Given the description of an element on the screen output the (x, y) to click on. 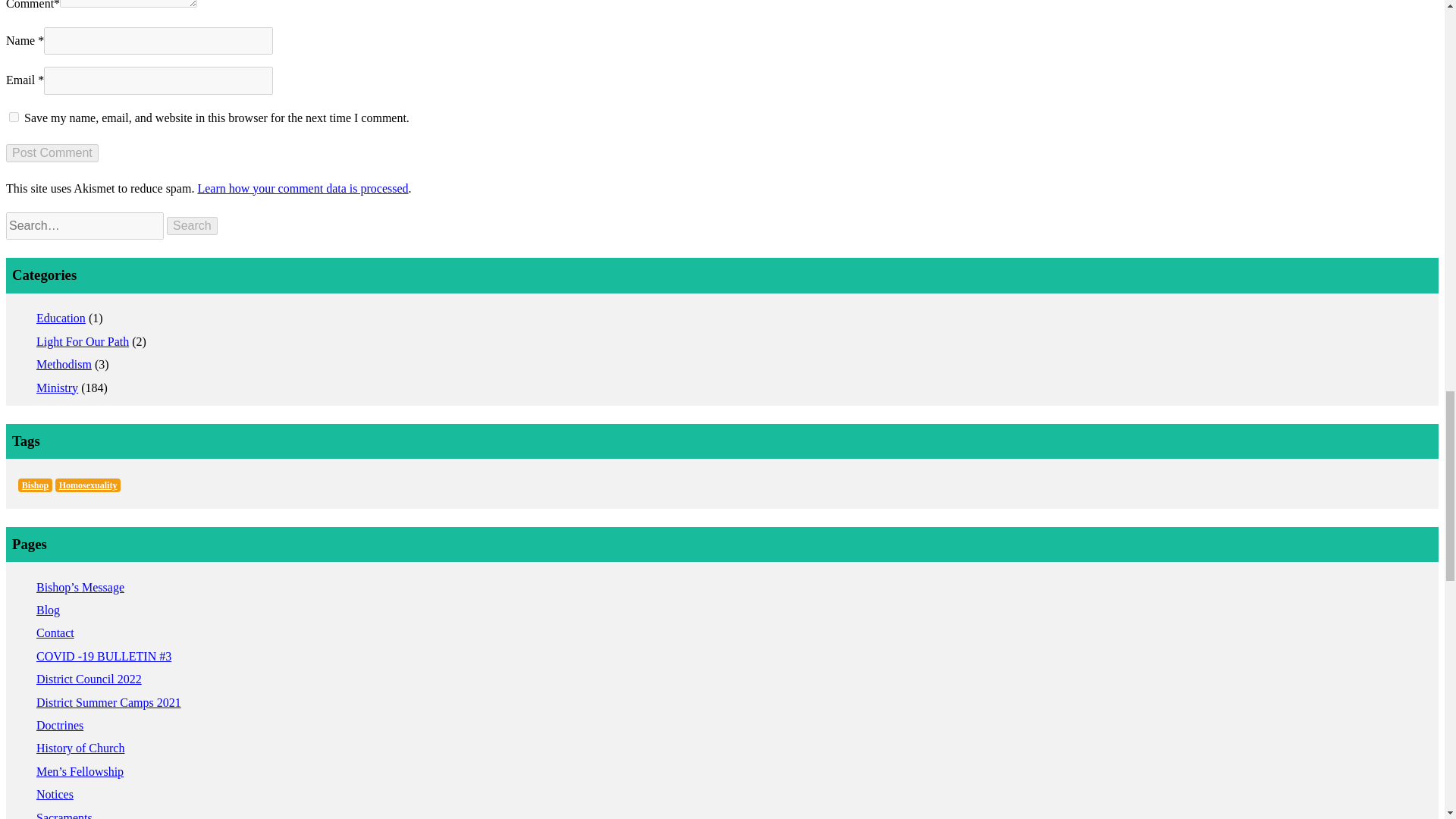
Education (60, 318)
Homosexuality (87, 485)
Post Comment (52, 153)
yes (13, 117)
Post Comment (52, 153)
Methodism (63, 364)
Search (191, 226)
Ministry (57, 387)
Bishop (34, 485)
Search (191, 226)
Light For Our Path (82, 341)
Learn how your comment data is processed (301, 187)
